Given the description of an element on the screen output the (x, y) to click on. 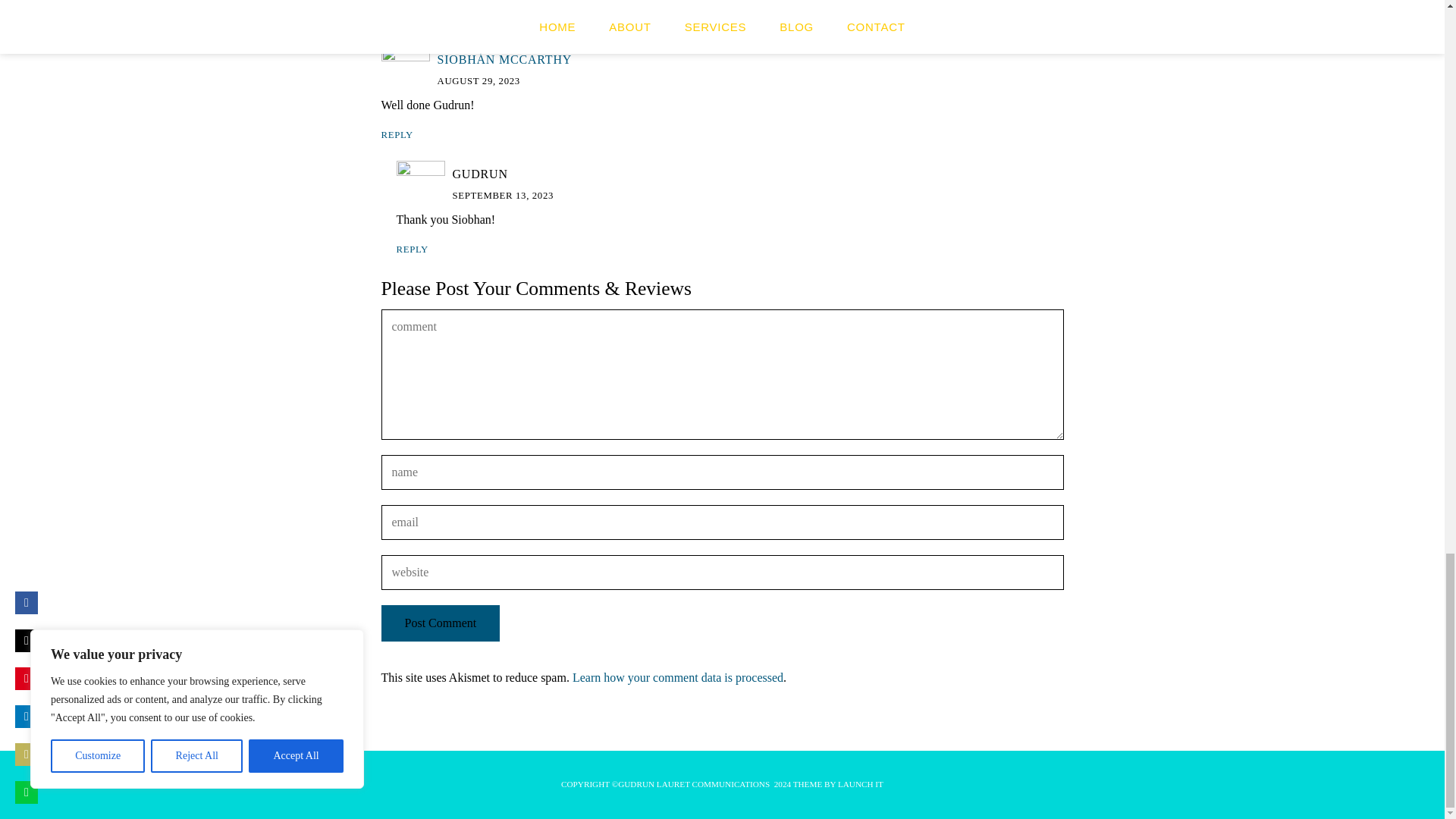
Post Comment (439, 623)
